Given the description of an element on the screen output the (x, y) to click on. 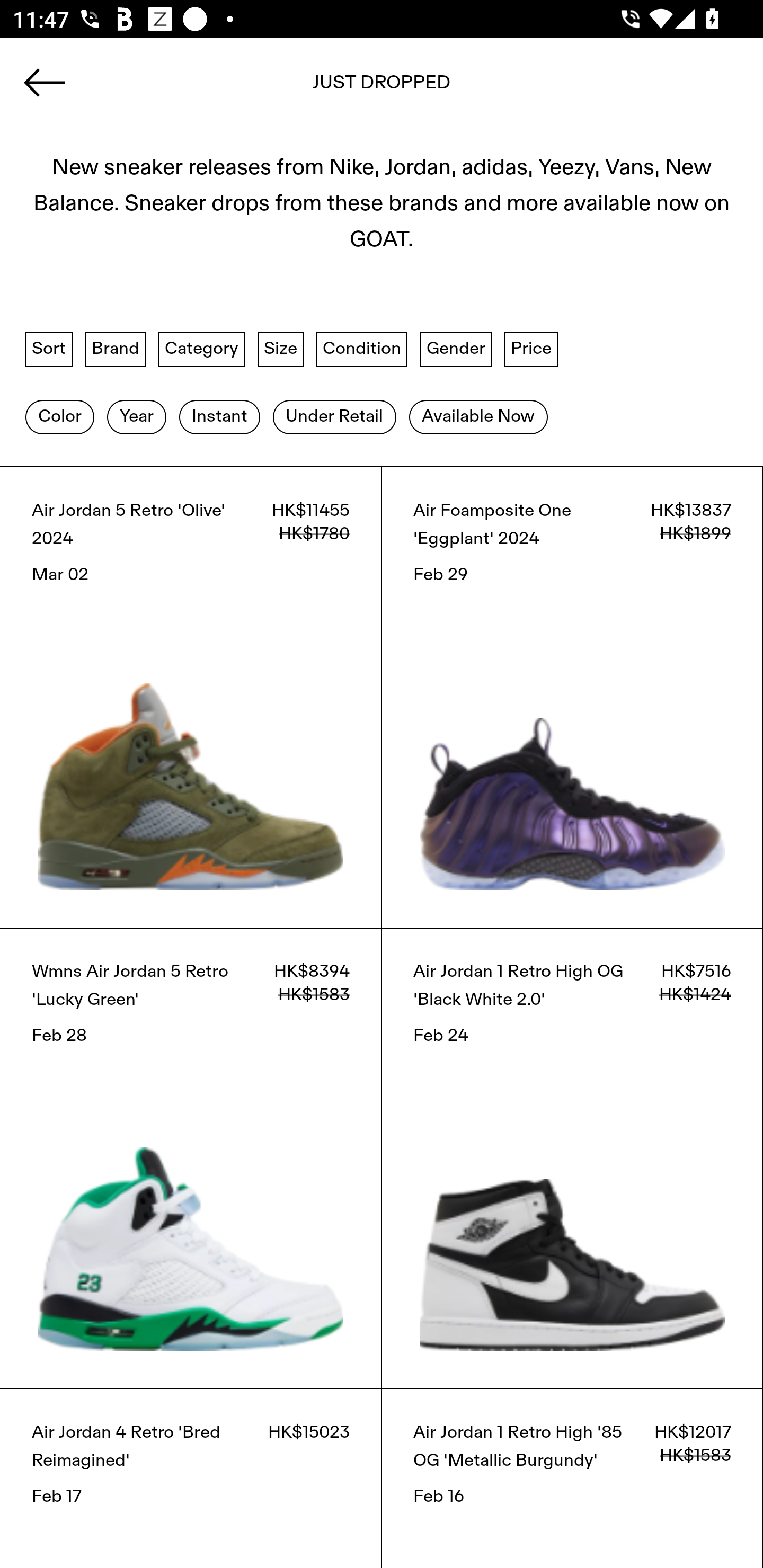
soccer shoes (381, 88)
Sort (48, 348)
Brand (115, 348)
Category (201, 348)
Size (280, 348)
Condition (361, 348)
Gender (455, 348)
Price (530, 348)
Color (59, 416)
Year (136, 416)
Instant (219, 416)
Under Retail (334, 416)
Available Now (477, 416)
